Given the description of an element on the screen output the (x, y) to click on. 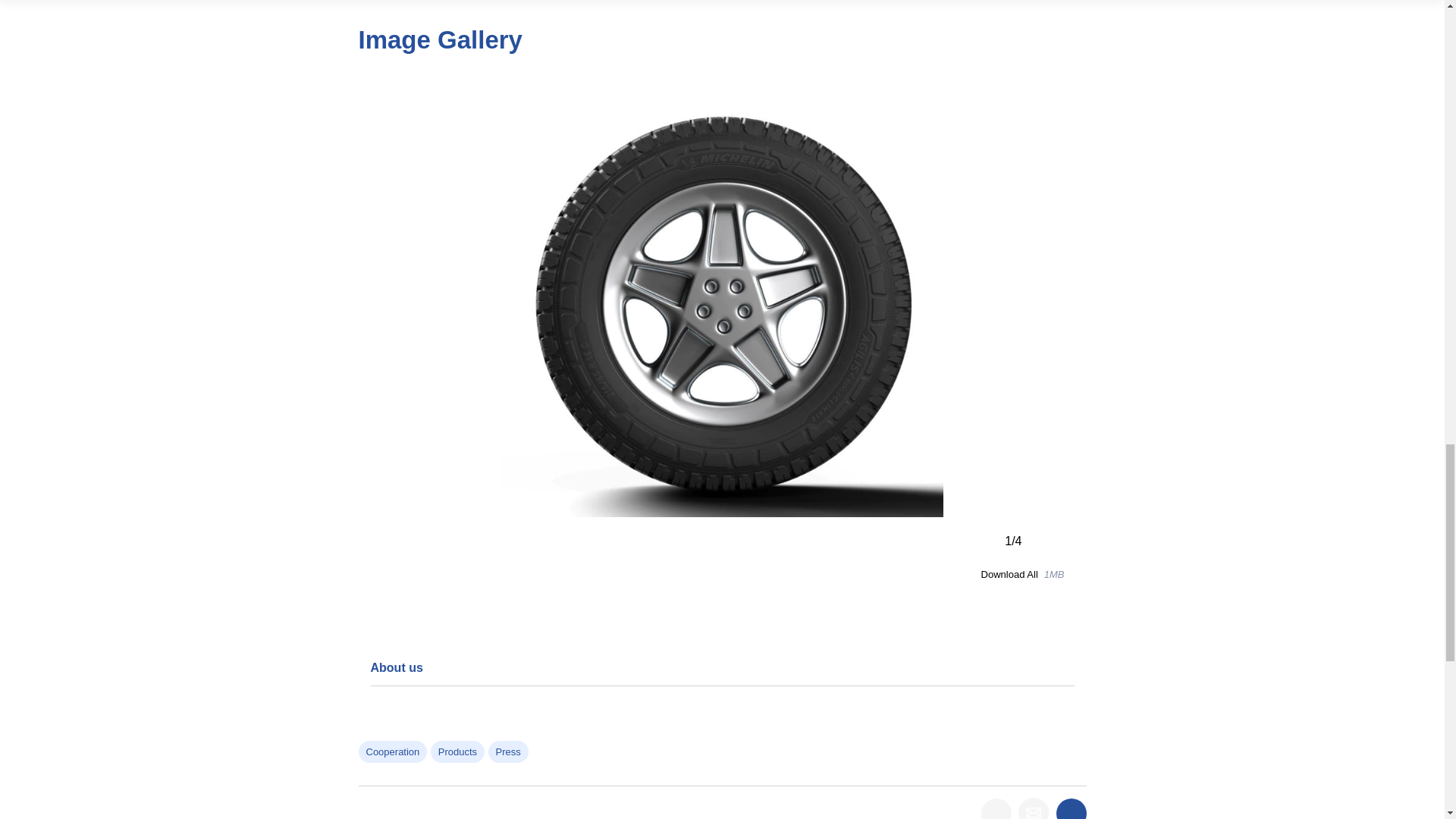
Products (457, 751)
Press (507, 751)
Download All (1009, 574)
Cooperation (392, 751)
